Given the description of an element on the screen output the (x, y) to click on. 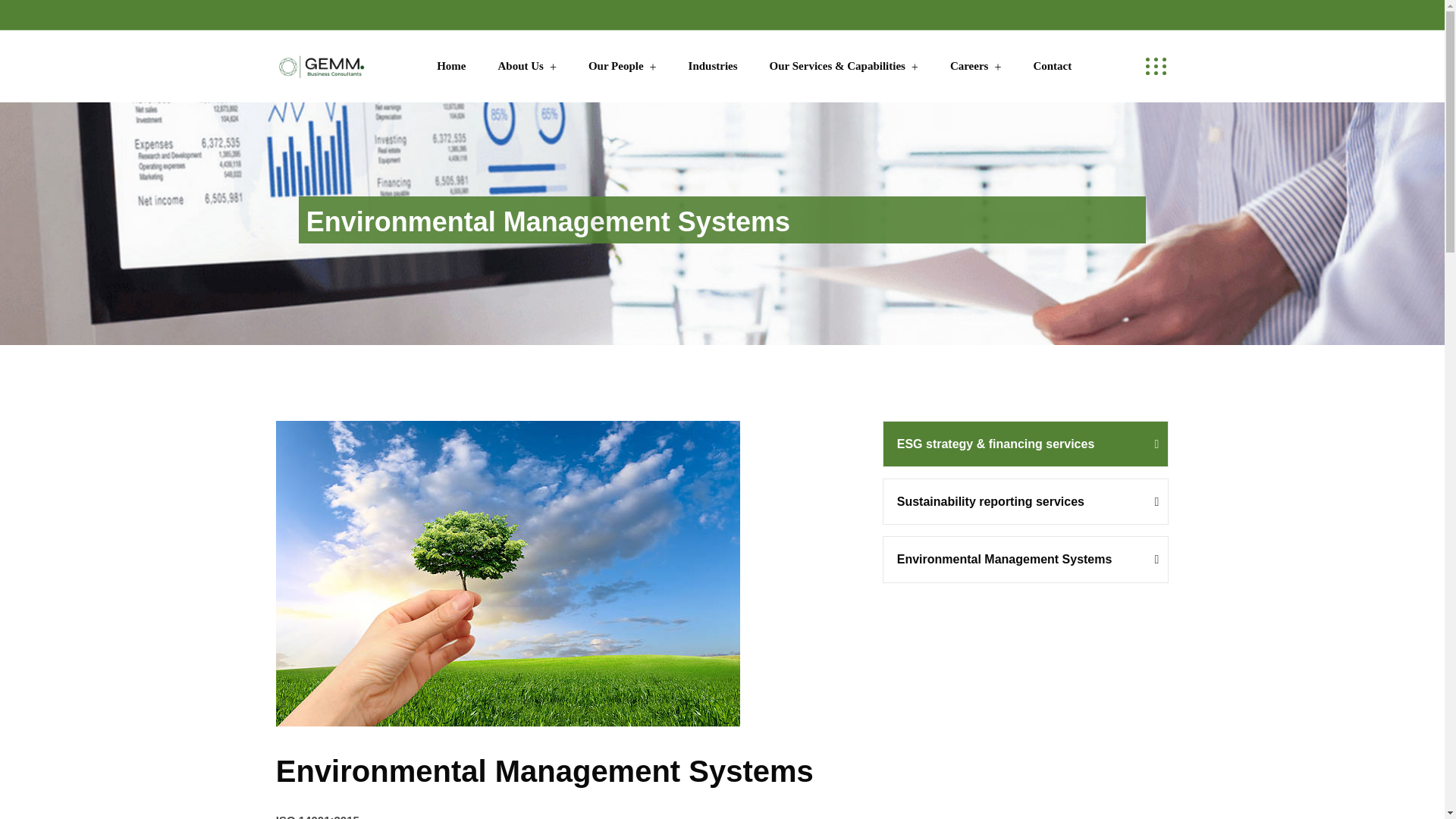
Our People (622, 66)
